Given the description of an element on the screen output the (x, y) to click on. 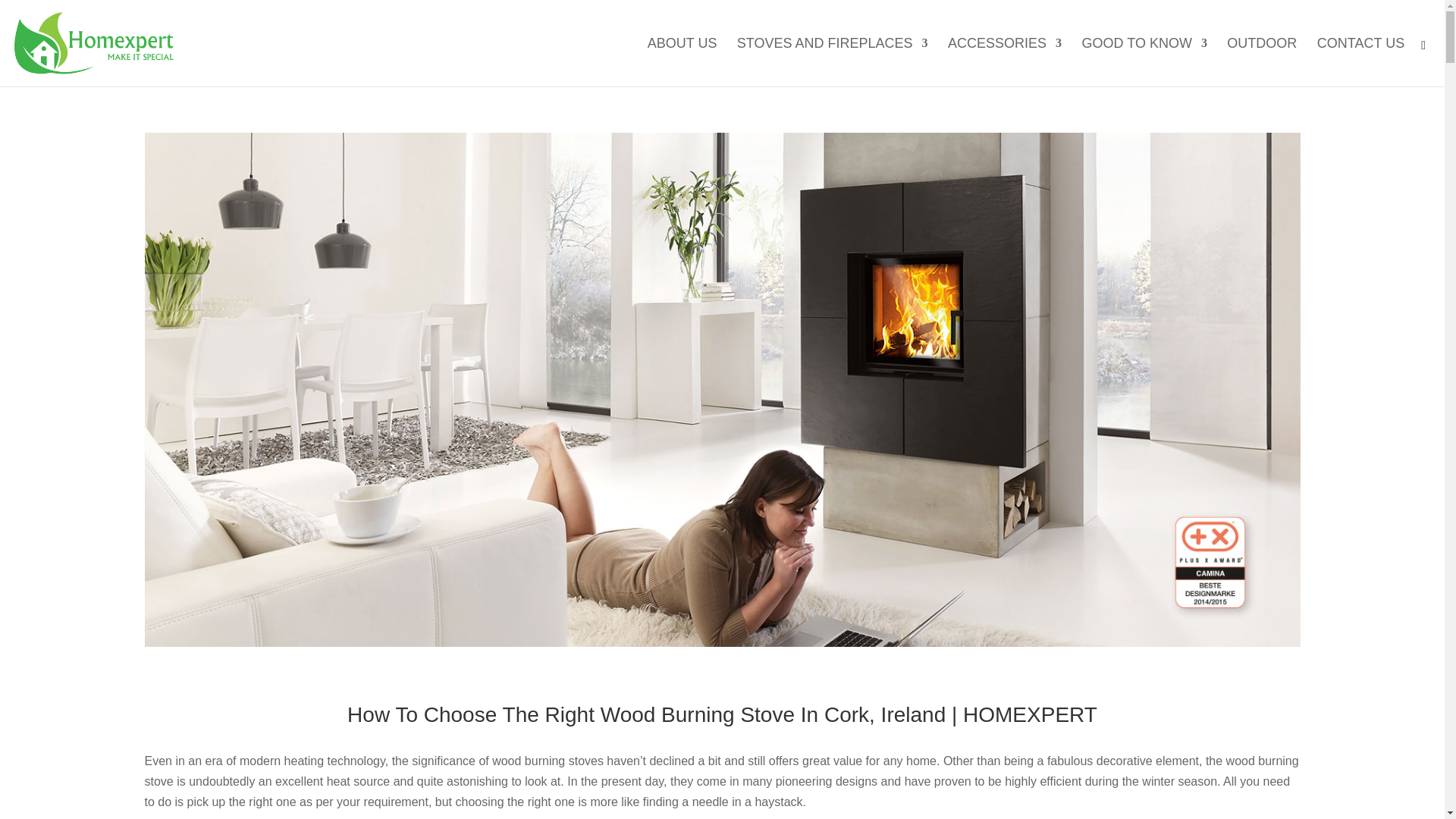
ACCESSORIES (1004, 61)
OUTDOOR (1262, 61)
ABOUT US (682, 61)
GOOD TO KNOW (1144, 61)
STOVES AND FIREPLACES (832, 61)
CONTACT US (1361, 61)
